Given the description of an element on the screen output the (x, y) to click on. 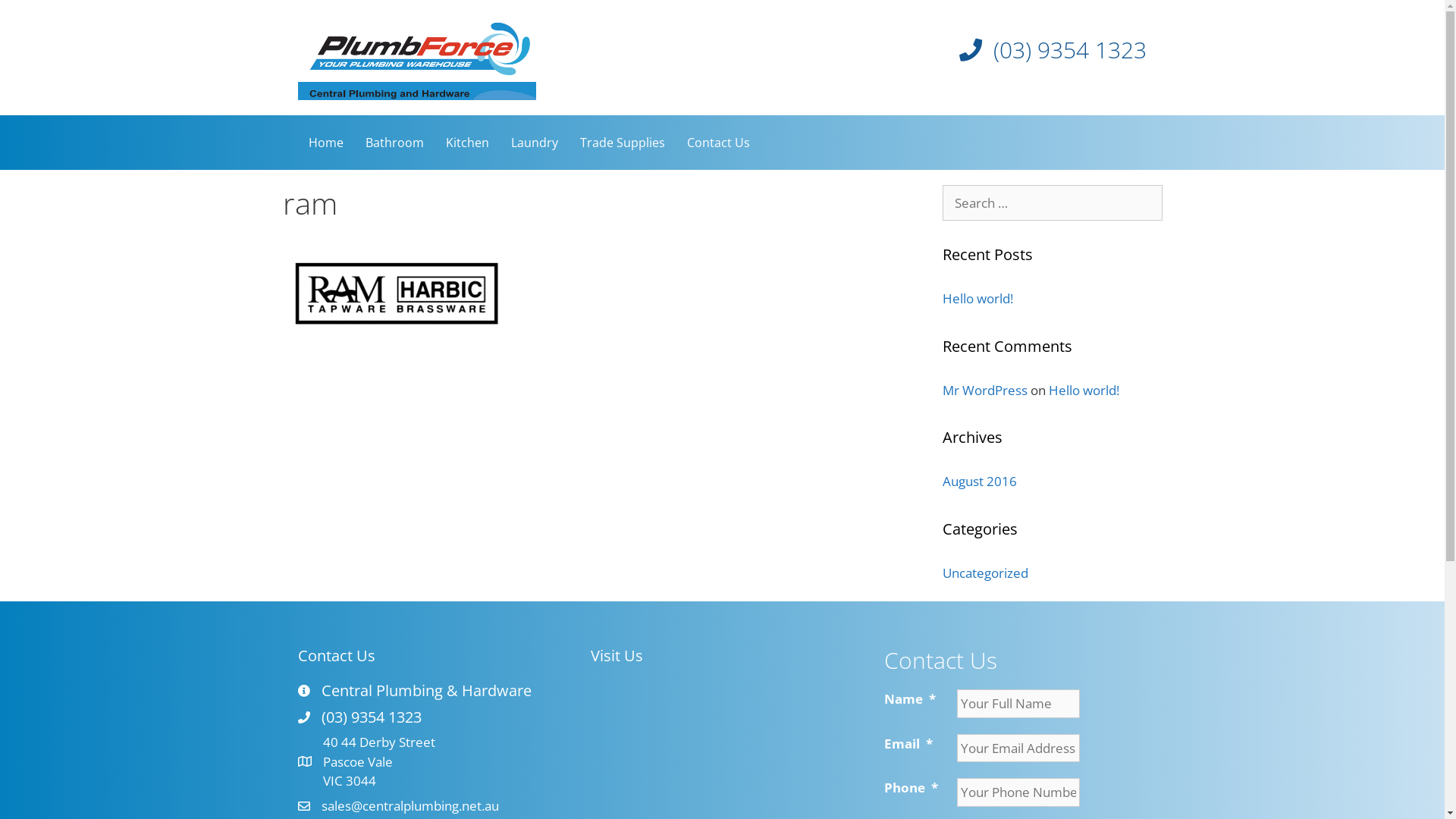
sales@centralplumbing.net.au Element type: text (409, 805)
Uncategorized Element type: text (984, 572)
Central Plumbing & Hardware Element type: text (426, 690)
Hello world! Element type: text (1083, 389)
Home Element type: text (325, 142)
Trade Supplies Element type: text (621, 142)
Mr WordPress Element type: text (983, 389)
Kitchen Element type: text (467, 142)
(03) 9354 1323 Element type: text (371, 716)
Contact Us Element type: text (718, 142)
(03) 9354 1323 Element type: text (1069, 49)
Central_Plumbing_&_Hardware_Logo.PNG Element type: hover (416, 57)
40 44 Derby Street
Pascoe Vale
VIC 3044 Element type: text (379, 761)
August 2016 Element type: text (978, 480)
Bathroom Element type: text (394, 142)
Search Element type: text (36, 18)
Laundry Element type: text (534, 142)
Hello world! Element type: text (976, 298)
Search for: Element type: hover (1051, 203)
